Given the description of an element on the screen output the (x, y) to click on. 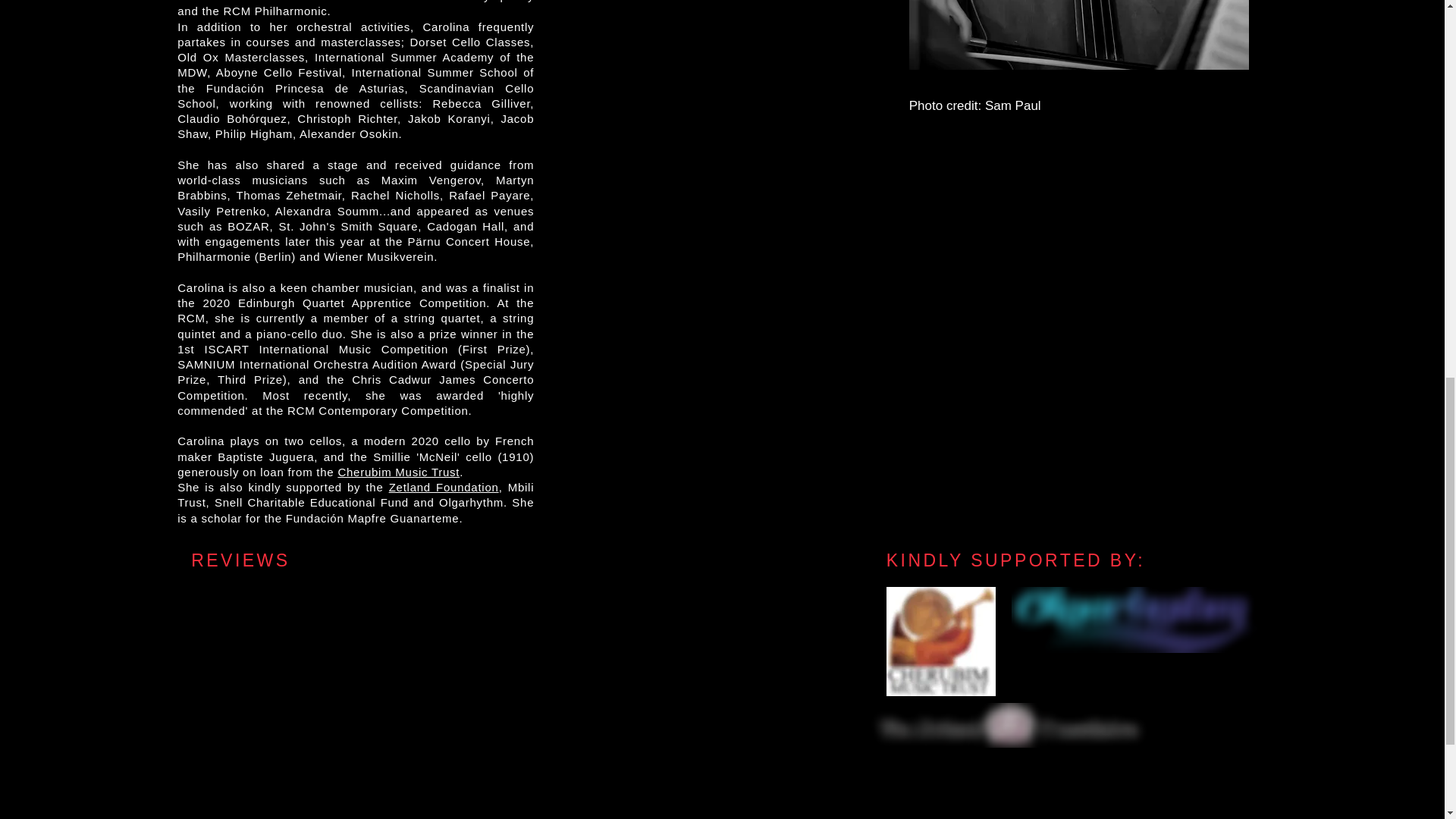
Cherubim Music Trust (398, 472)
, Mbili Trust, Snell Charitable Educational Fund (355, 494)
Zetland Foundation (443, 486)
